Given the description of an element on the screen output the (x, y) to click on. 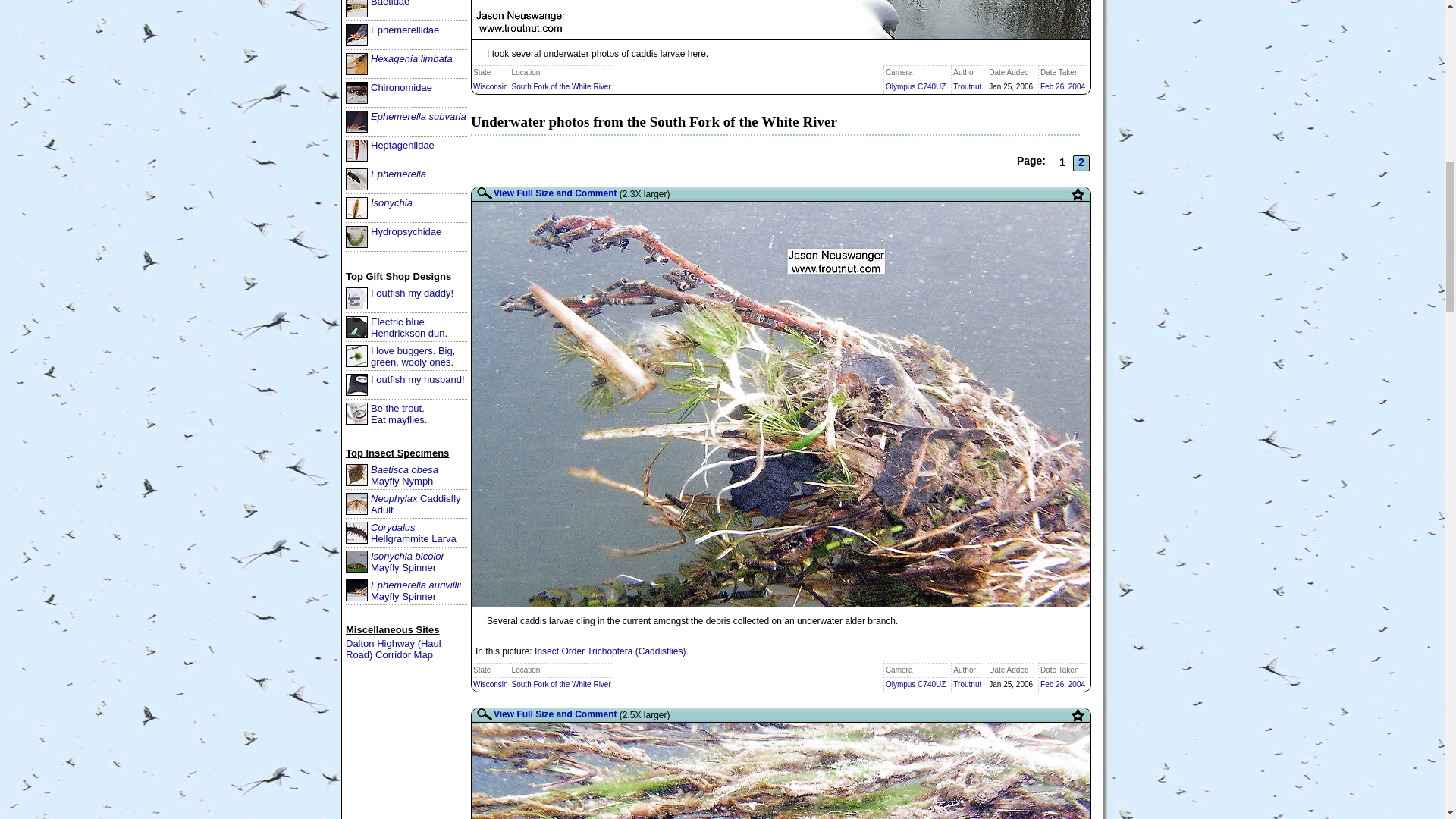
Feb 26, 2004 (1062, 684)
Add To Your Favorites Page (1077, 193)
View Full Size and Comment (545, 193)
Olympus C740UZ (914, 684)
Olympus C740UZ (914, 86)
South Fork of the White River (561, 86)
2 (1081, 163)
South Fork of the White River (561, 684)
Wisconsin (490, 86)
Troutnut (967, 86)
Wisconsin (490, 684)
Feb 26, 2004 (1062, 86)
Troutnut (967, 684)
